Given the description of an element on the screen output the (x, y) to click on. 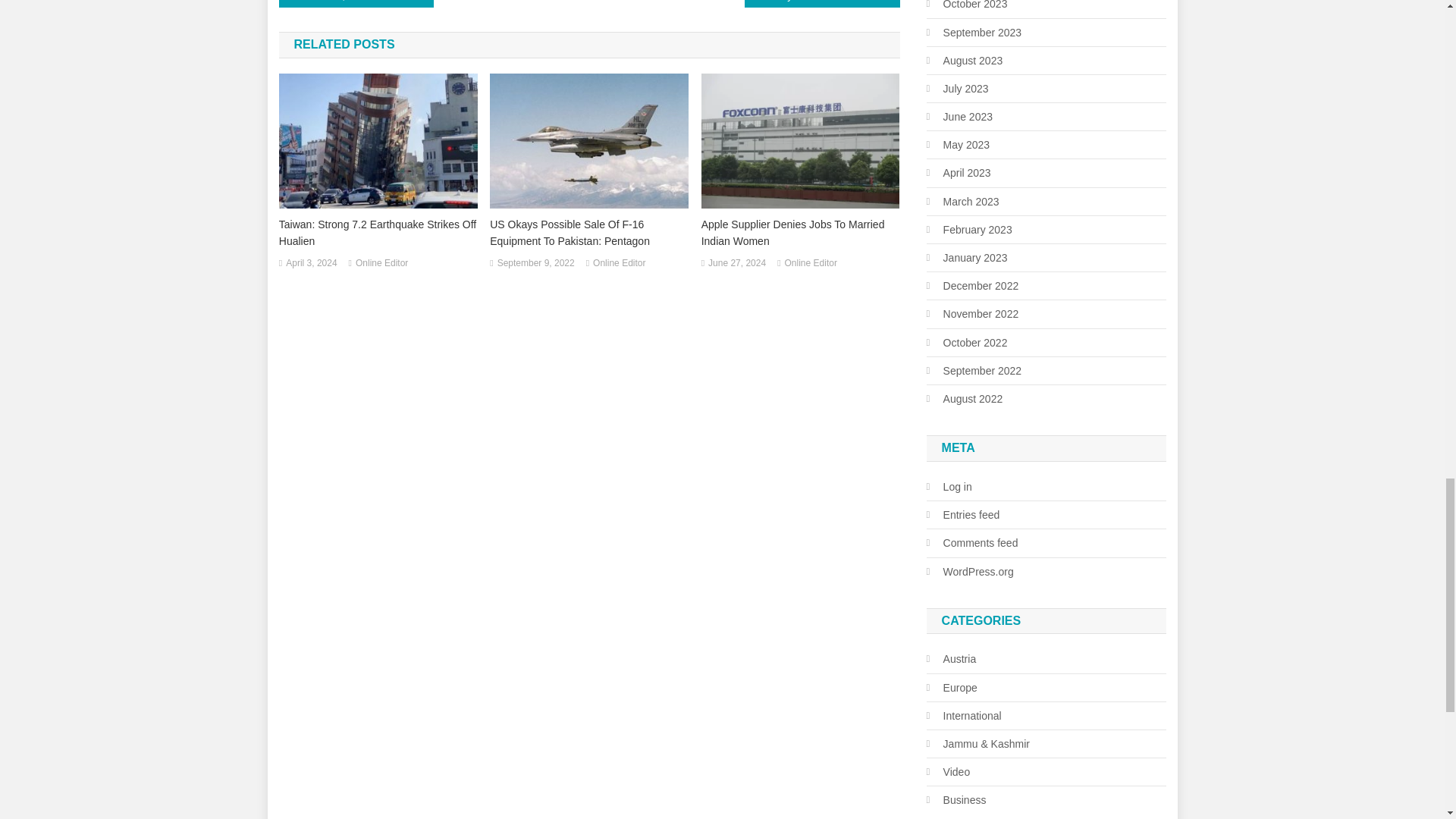
April 3, 2024 (310, 263)
June 27, 2024 (736, 263)
Apple Supplier Denies Jobs To Married Indian Women (800, 232)
Taiwan: Strong 7.2 Earthquake Strikes Off Hualien (378, 232)
Online Editor (618, 263)
Online Editor (381, 263)
Online Editor (810, 263)
September 9, 2022 (536, 263)
